Given the description of an element on the screen output the (x, y) to click on. 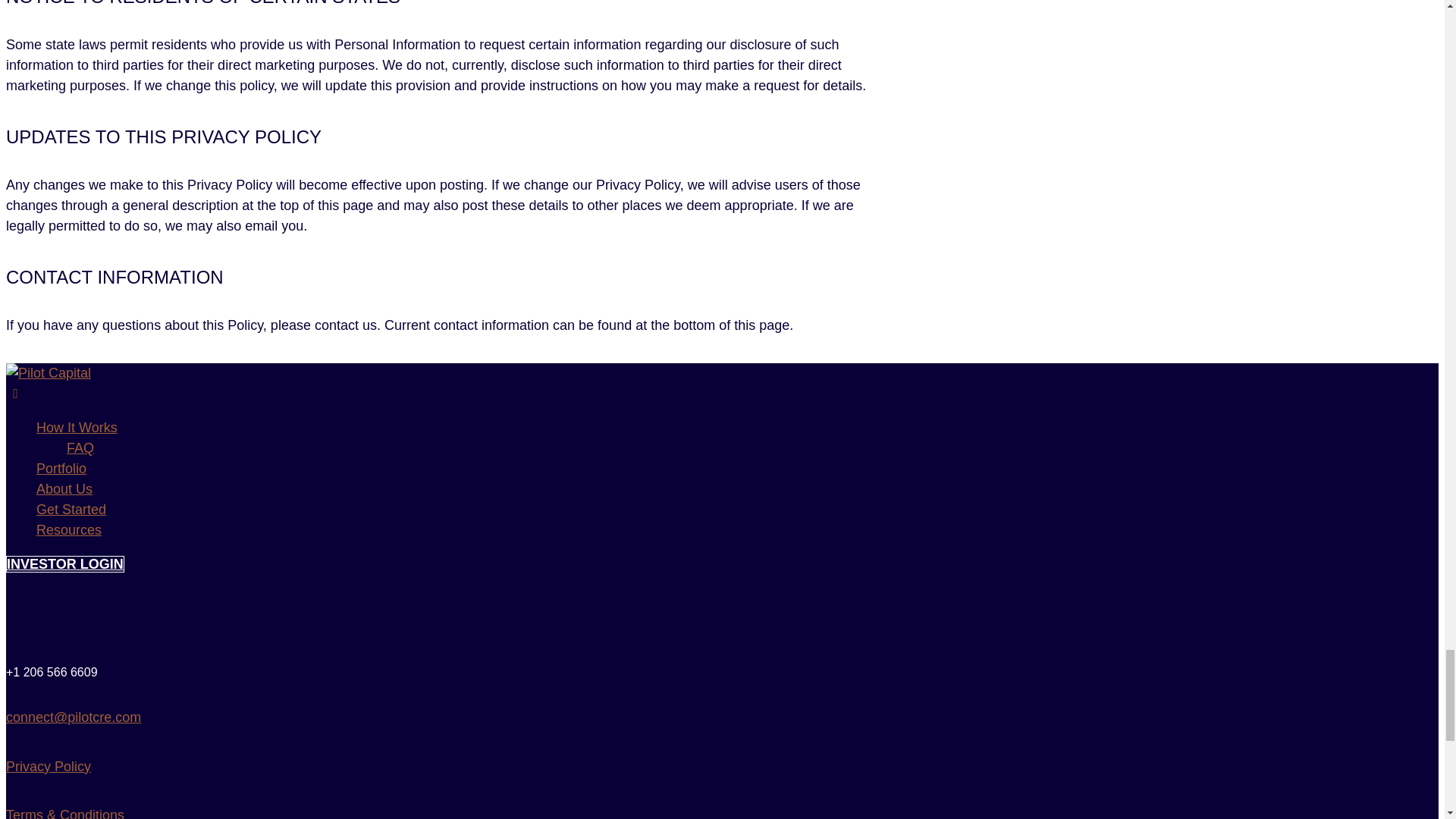
How It Works (76, 427)
Privacy Policy (47, 766)
Get Started (71, 509)
Portfolio (60, 468)
FAQ (80, 447)
About Us (64, 488)
INVESTOR LOGIN (64, 564)
Resources (68, 529)
